Given the description of an element on the screen output the (x, y) to click on. 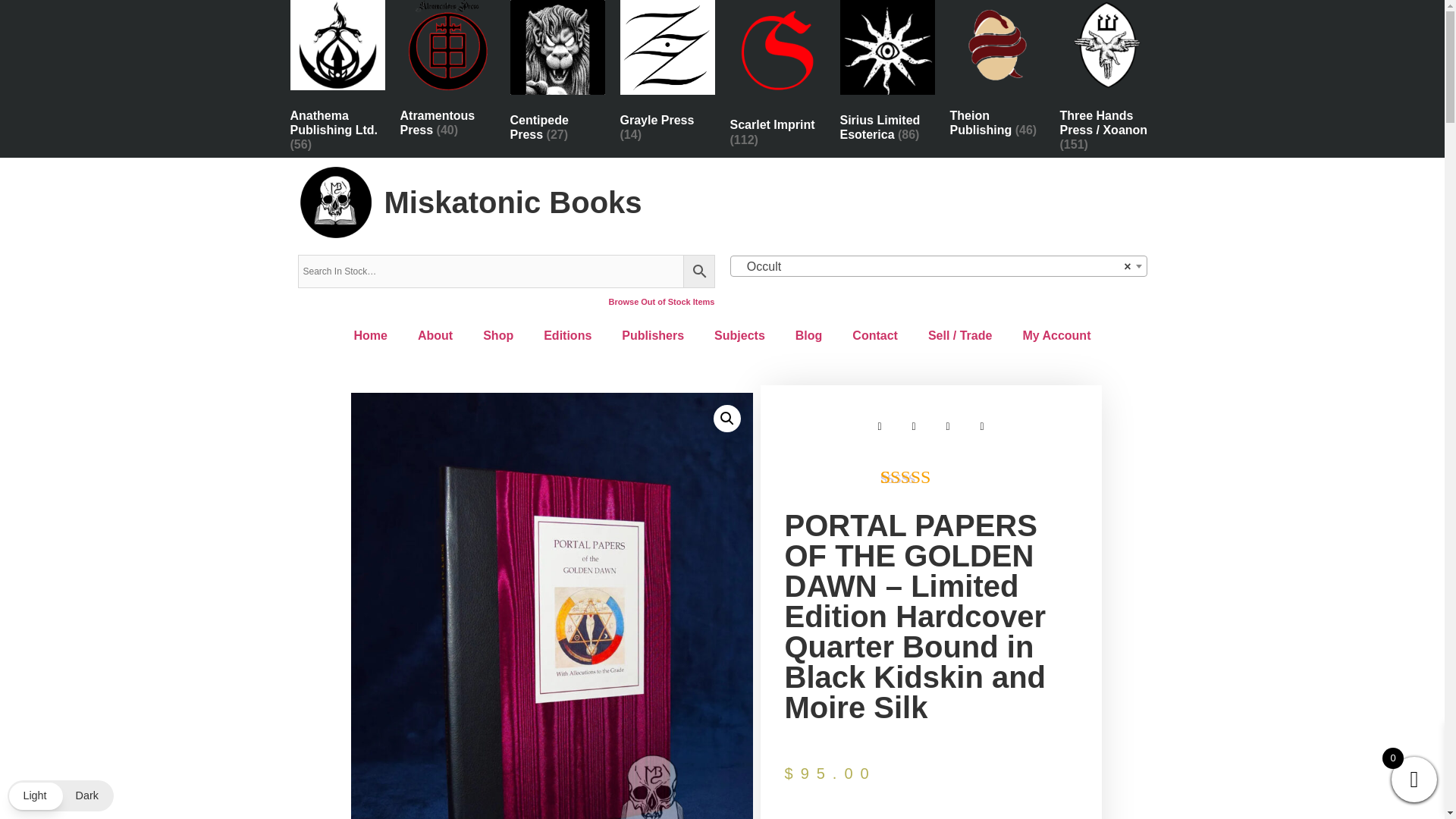
Contact (874, 335)
About (435, 335)
Miskatonic Books (513, 202)
Browse Out of Stock Items (661, 301)
Blog (809, 335)
My Account (1056, 335)
Home (371, 335)
Publishers (652, 335)
Shop (497, 335)
Subjects (739, 335)
Editions (567, 335)
